Given the description of an element on the screen output the (x, y) to click on. 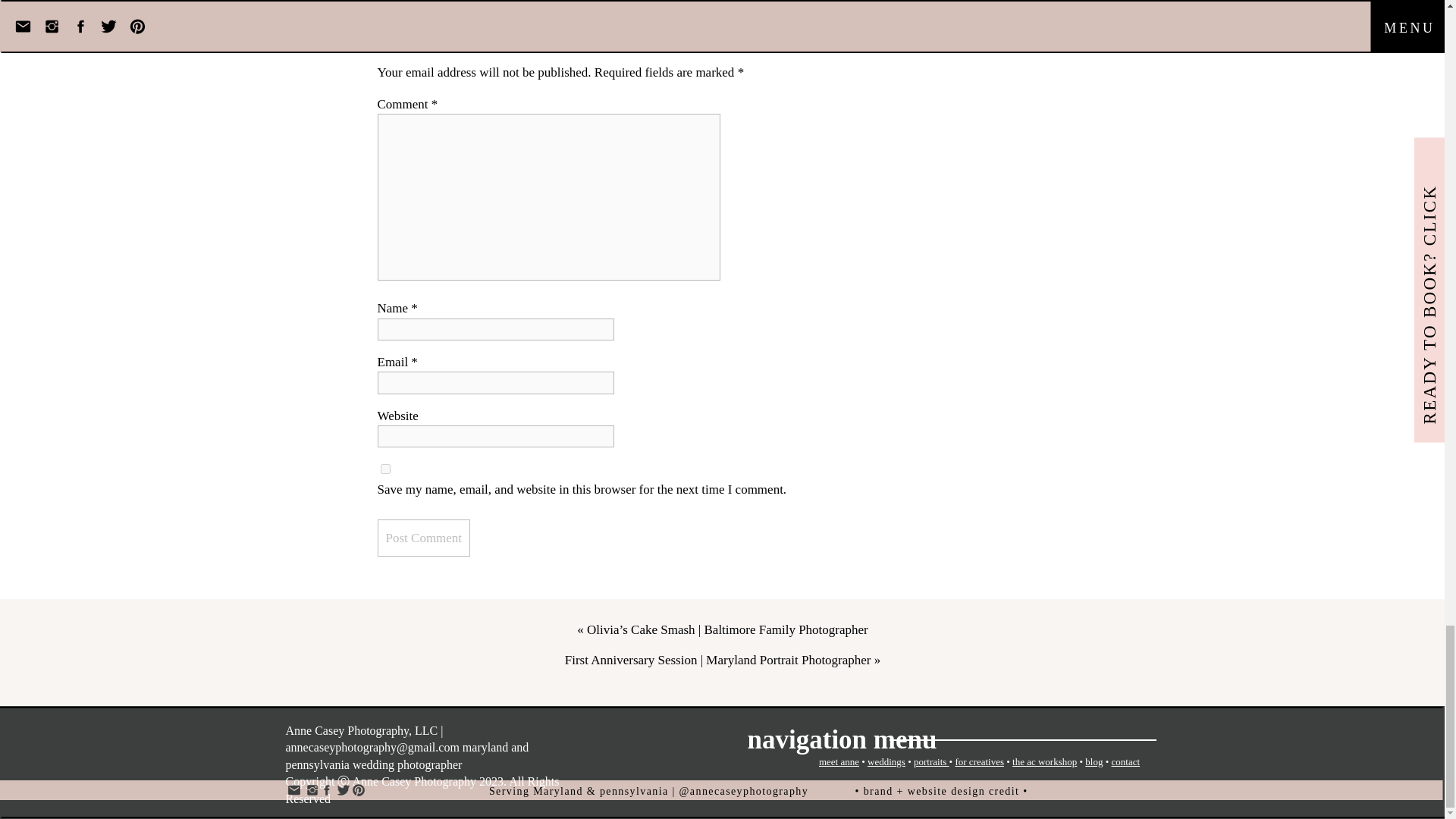
yes (385, 469)
Post Comment (423, 537)
Post Comment (423, 537)
